Given the description of an element on the screen output the (x, y) to click on. 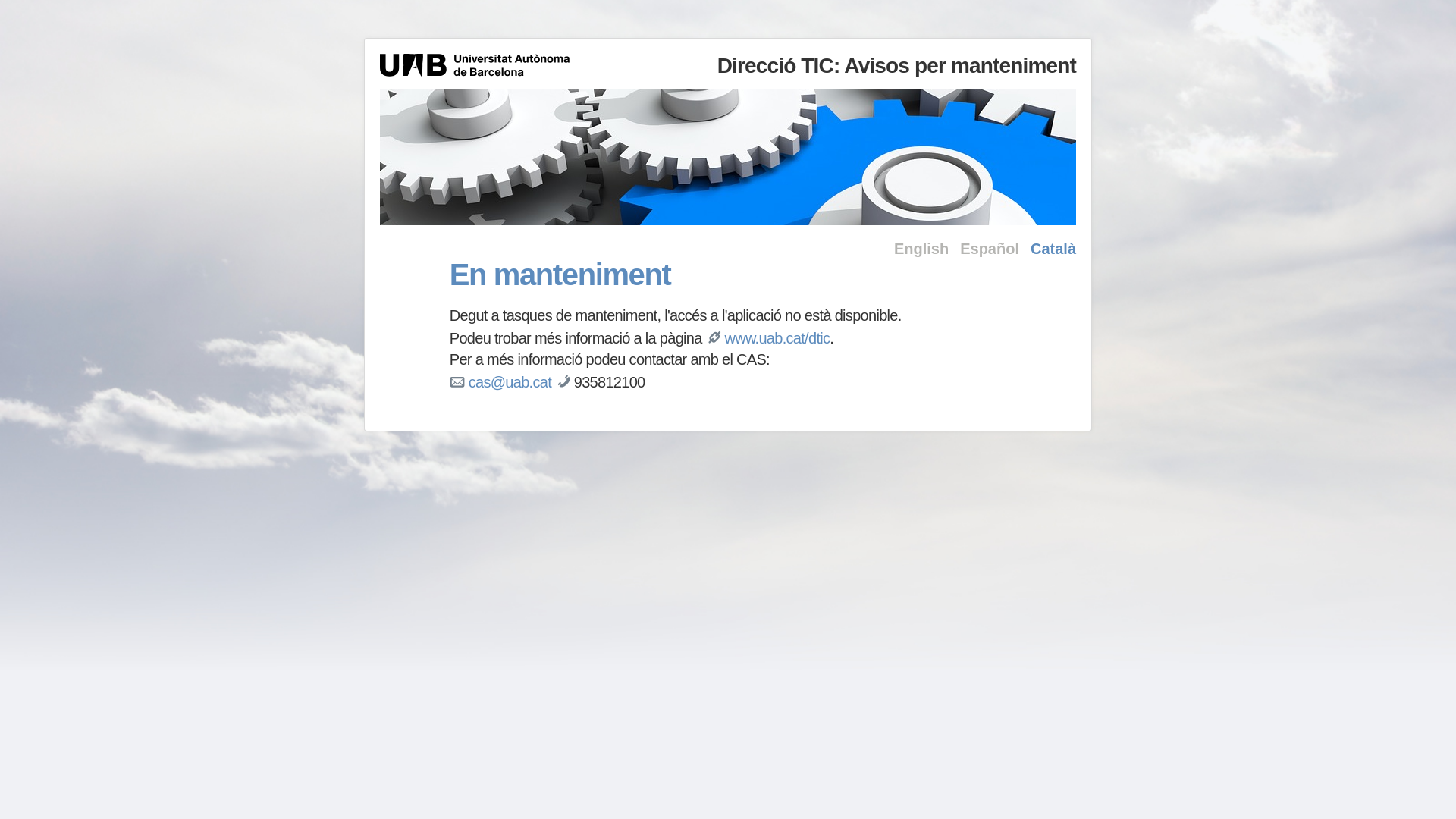
cas@uab.cat Element type: text (509, 381)
www.uab.cat/dtic Element type: text (776, 337)
